Given the description of an element on the screen output the (x, y) to click on. 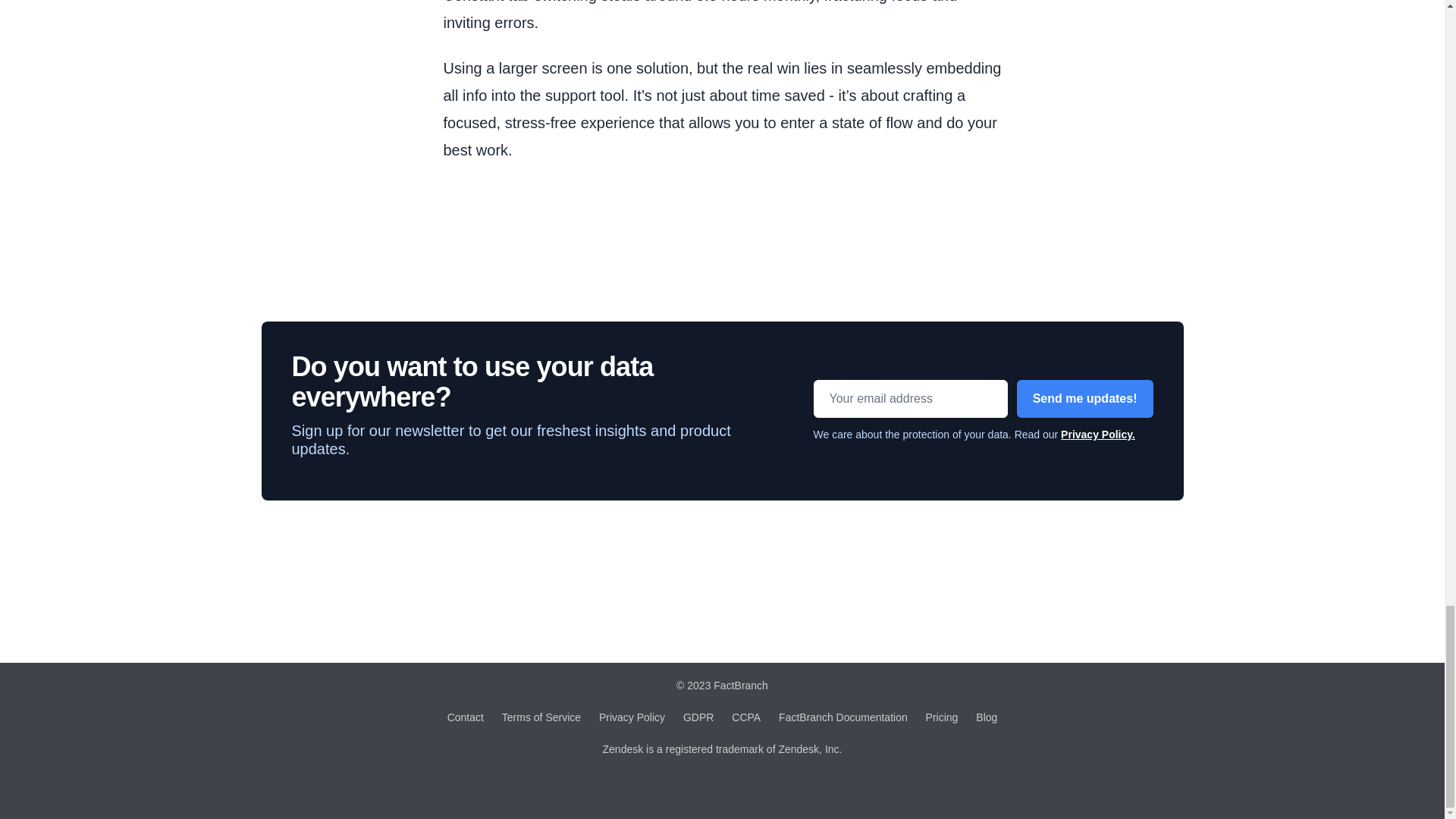
Privacy Policy. (1098, 434)
Contact (464, 717)
GDPR (697, 717)
FactBranch Documentation (842, 717)
Terms of Service (541, 717)
Privacy Policy (631, 717)
Send me updates! (1084, 398)
CCPA (746, 717)
